Given the description of an element on the screen output the (x, y) to click on. 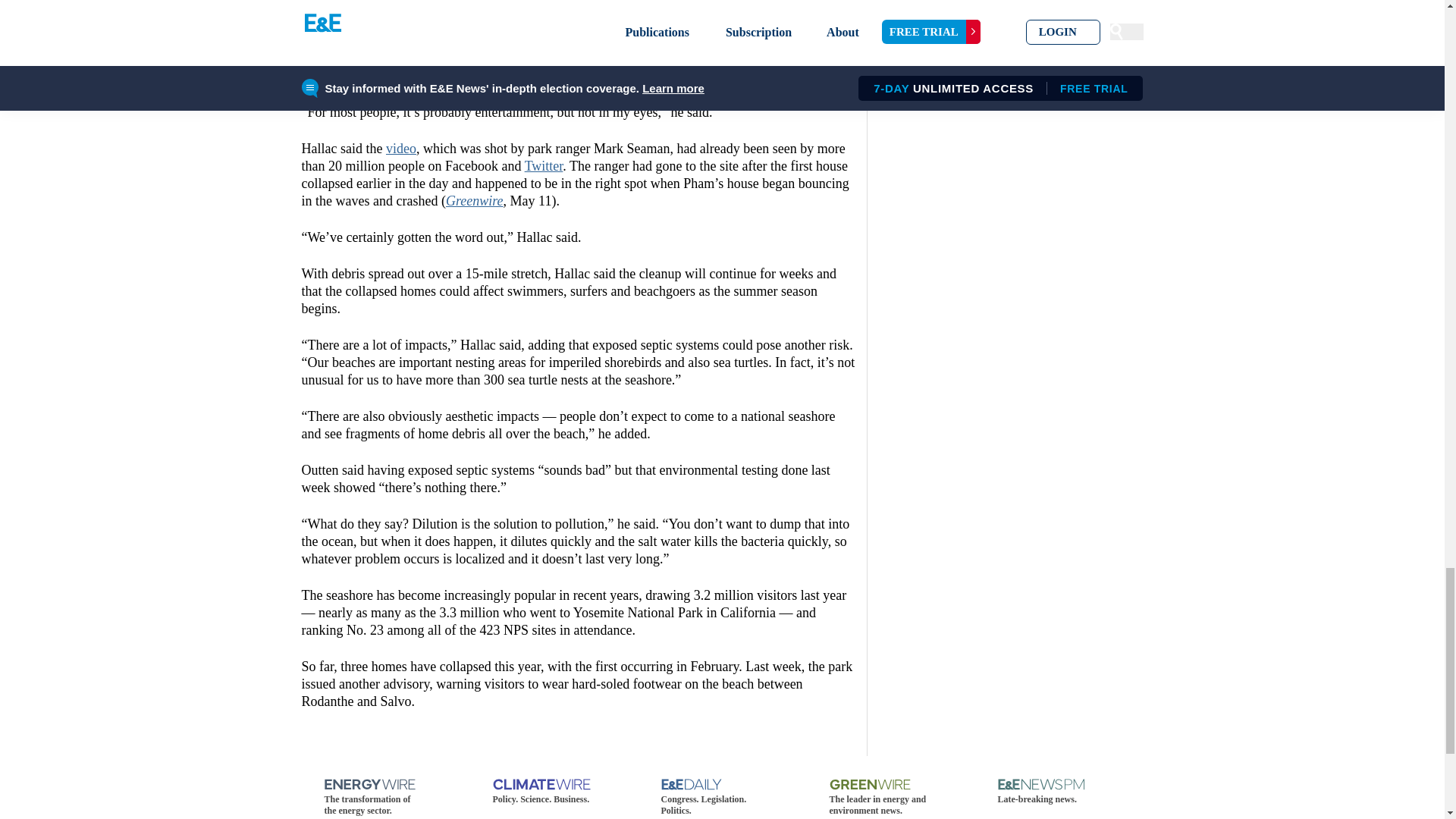
Policy. Science. Business. (554, 787)
Congress. Legislation. Politics. (722, 787)
Late-breaking news. (1058, 787)
video (400, 148)
Greenwire (474, 200)
Twitter (543, 165)
The leader in energy and environment news. (890, 787)
The transformation of the energy sector. (385, 787)
